Given the description of an element on the screen output the (x, y) to click on. 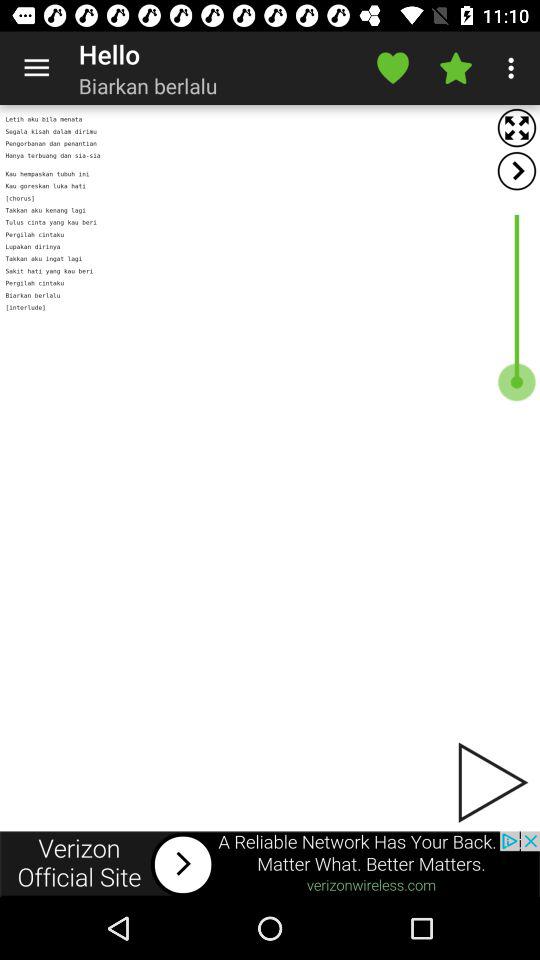
zoom (516, 127)
